Given the description of an element on the screen output the (x, y) to click on. 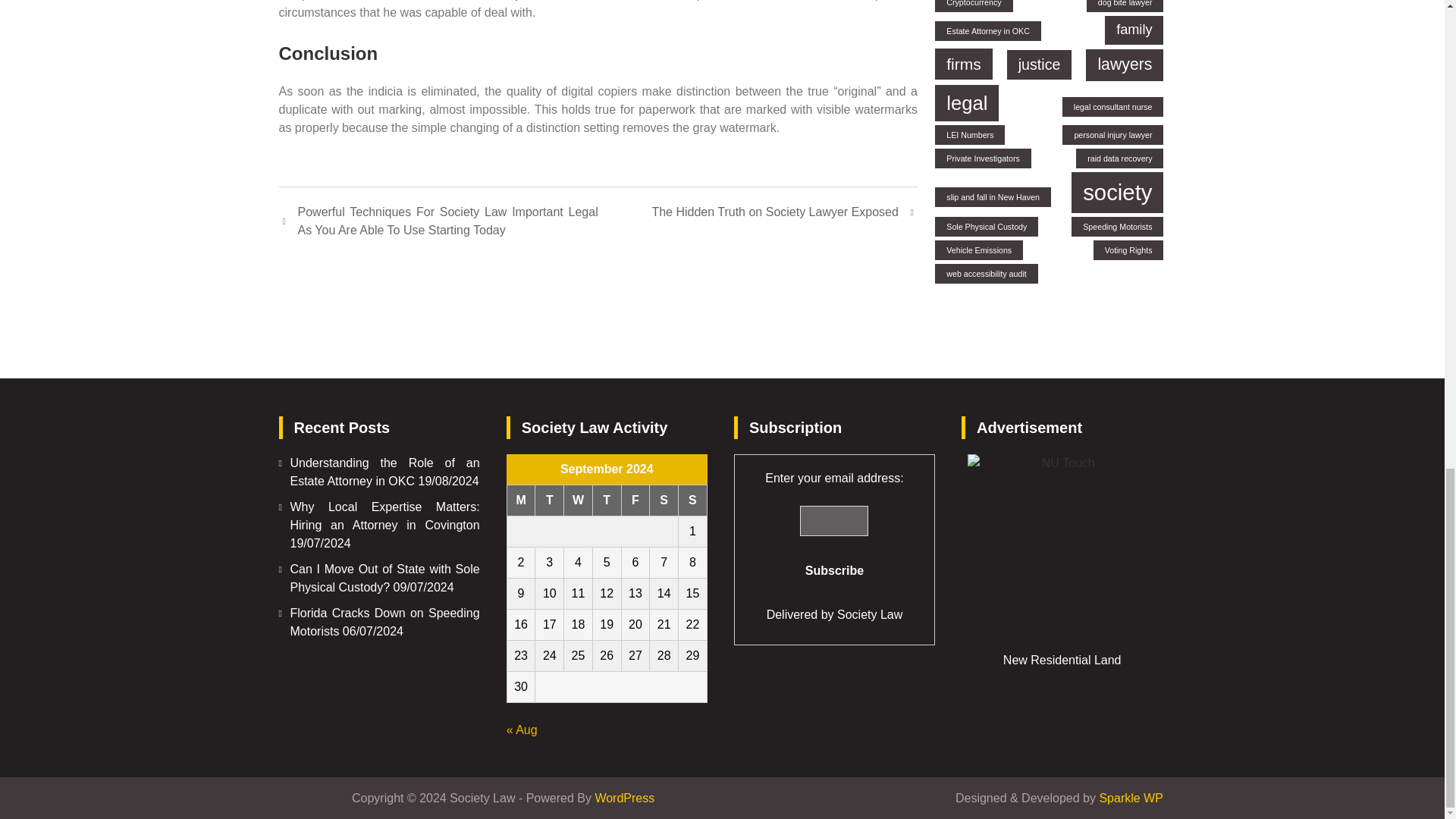
Saturday (663, 499)
Monday (520, 499)
Subscribe (834, 571)
Thursday (606, 499)
Friday (635, 499)
Sunday (692, 499)
The Hidden Truth on Society Lawyer Exposed (783, 212)
Tuesday (549, 499)
Wednesday (578, 499)
